Given the description of an element on the screen output the (x, y) to click on. 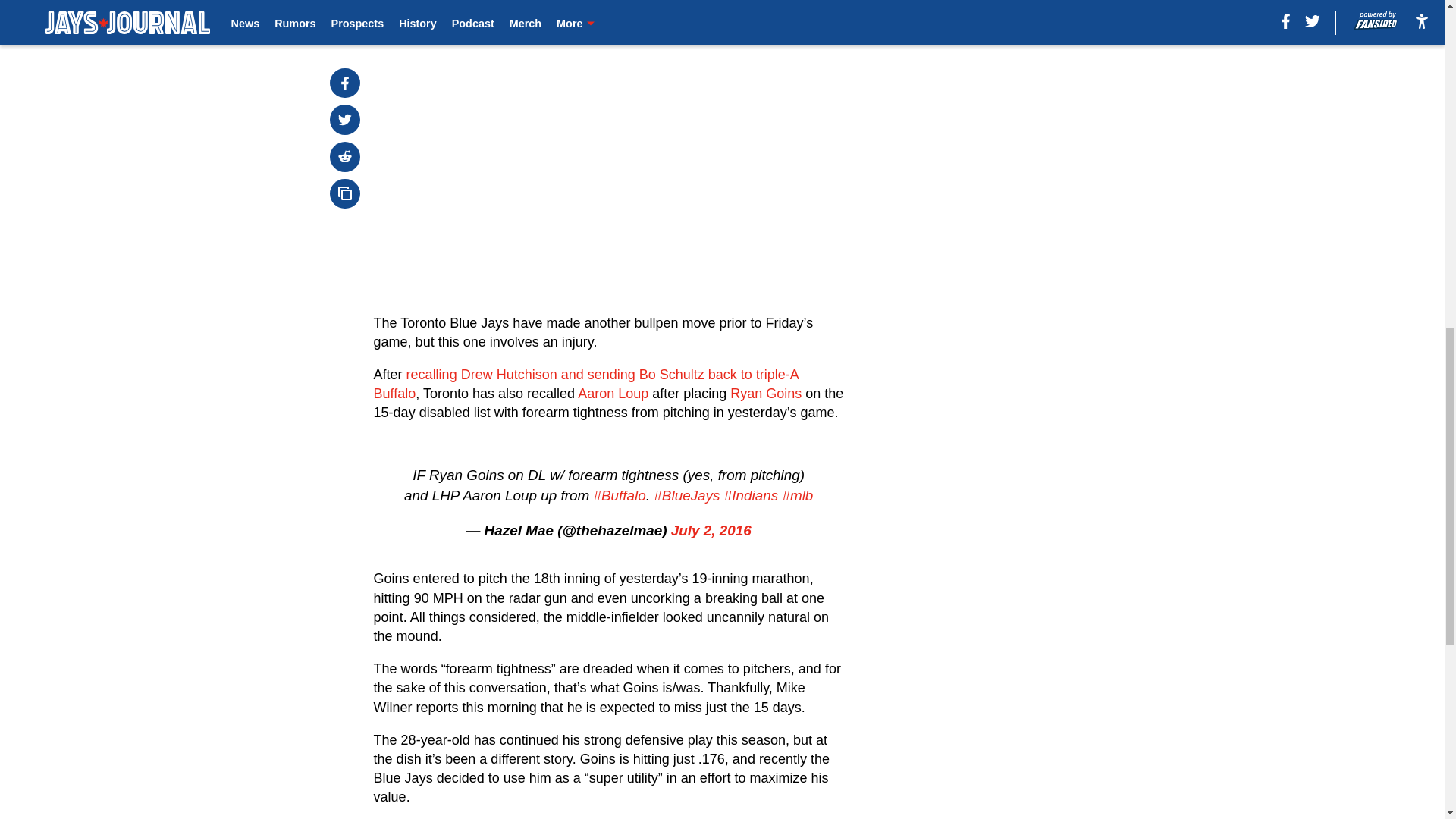
Ryan Goins (766, 393)
Aaron Loup (612, 393)
July 2, 2016 (711, 530)
